Given the description of an element on the screen output the (x, y) to click on. 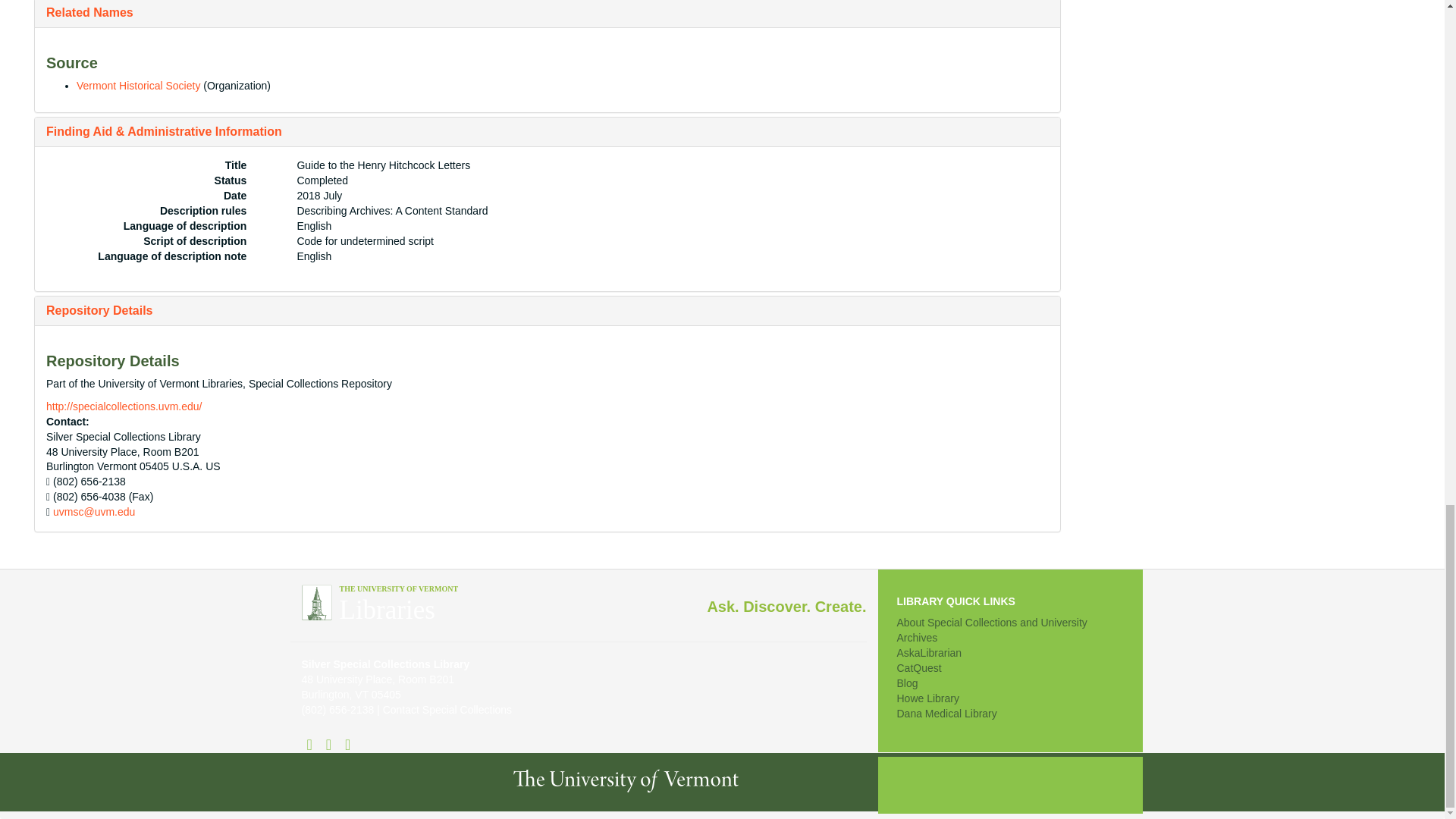
Vermont Historical Society (138, 85)
Related Names (89, 11)
Repository Details (99, 309)
Send email (93, 511)
